Given the description of an element on the screen output the (x, y) to click on. 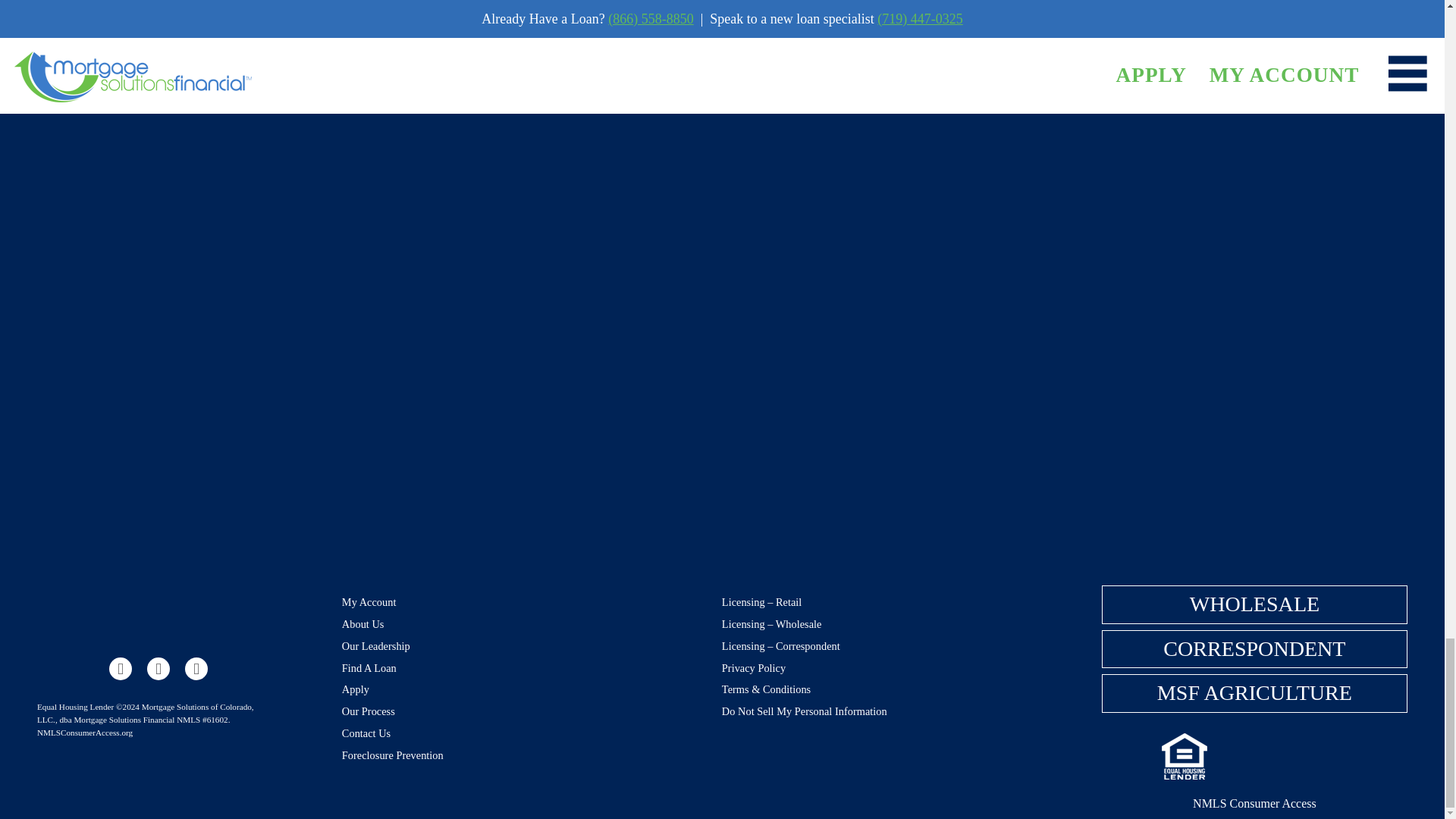
MSF Agriculture (1254, 693)
NMLSConsumerAccess.org (84, 732)
Mortgage Solutions Financial, Loans, Colorado Springs, CO (1292, 756)
My Account (369, 602)
